Given the description of an element on the screen output the (x, y) to click on. 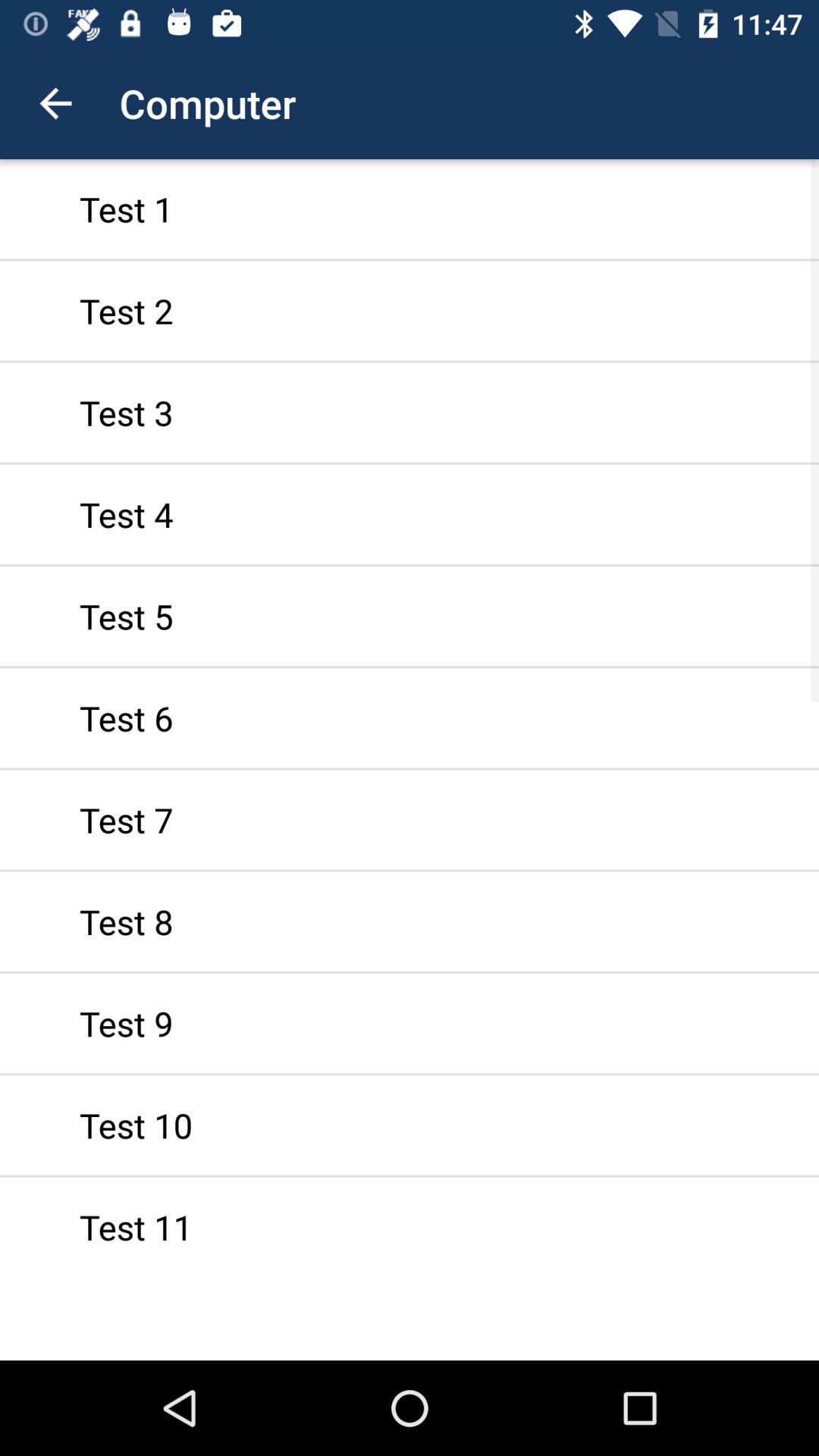
choose icon next to computer (55, 103)
